Given the description of an element on the screen output the (x, y) to click on. 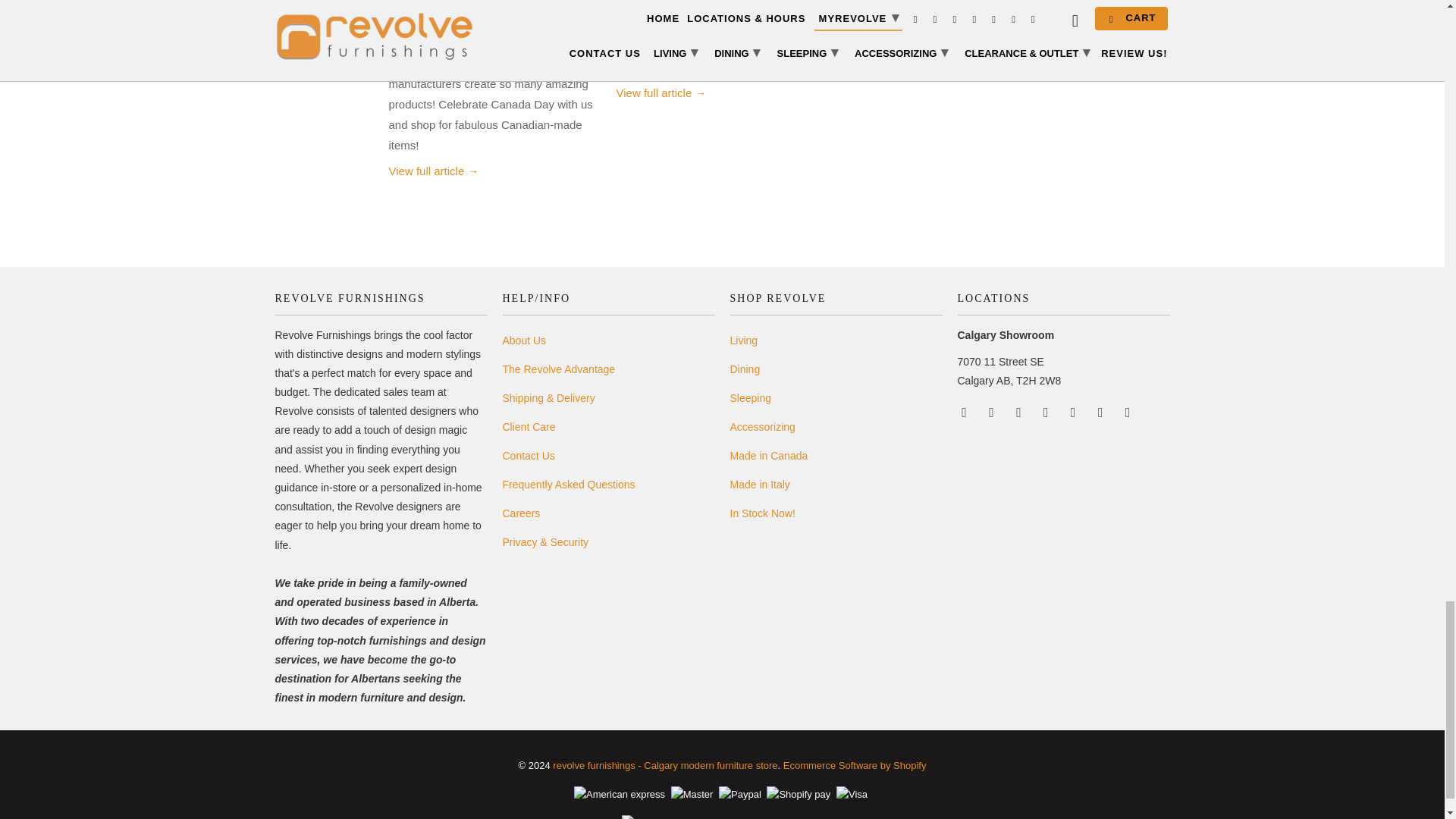
Made in Canada: Modern Canadian Furniture (433, 170)
